Given the description of an element on the screen output the (x, y) to click on. 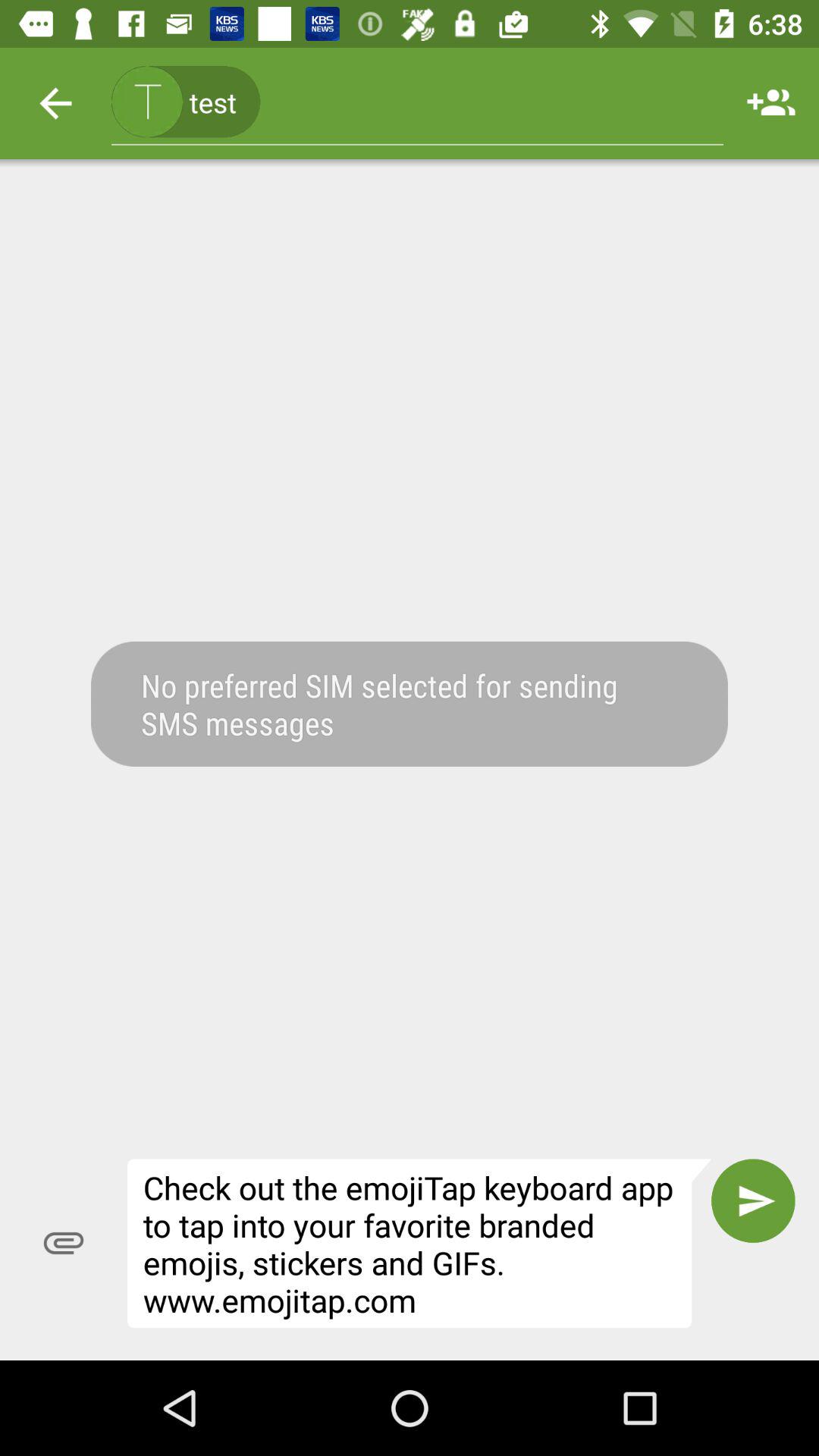
tap icon to the right of the (415) 123-4567,  icon (771, 103)
